Given the description of an element on the screen output the (x, y) to click on. 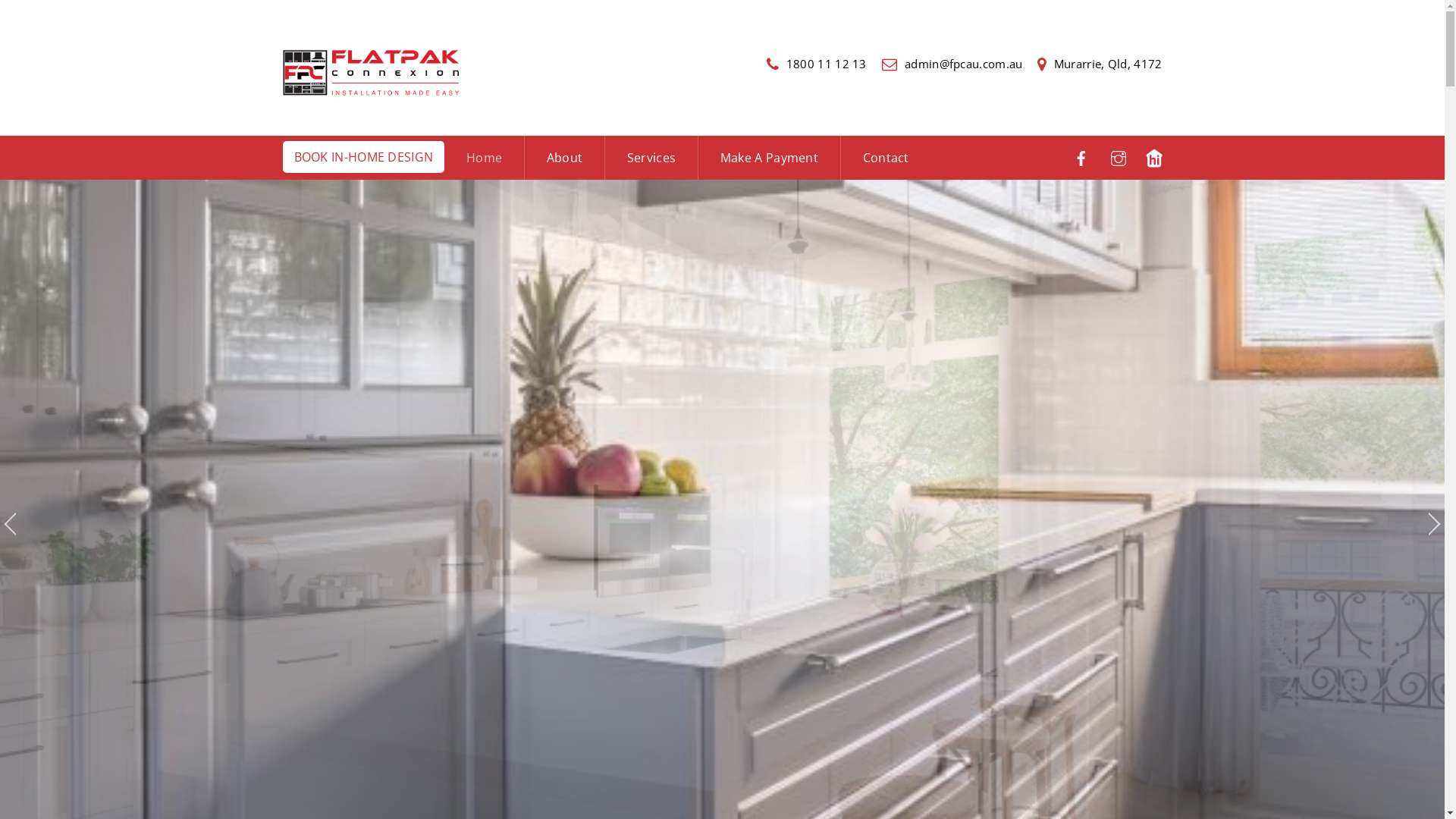
Services Element type: text (650, 157)
About Element type: text (564, 157)
Make A Payment Element type: text (768, 157)
Home Element type: text (484, 157)
BOOK IN-HOME DESIGN Element type: text (363, 156)
admin@fpcau.com.au Element type: text (951, 63)
Contact Element type: text (885, 157)
1800 11 12 13 Element type: text (816, 63)
Murarrie, Qld, 4172 Element type: text (1099, 63)
